Given the description of an element on the screen output the (x, y) to click on. 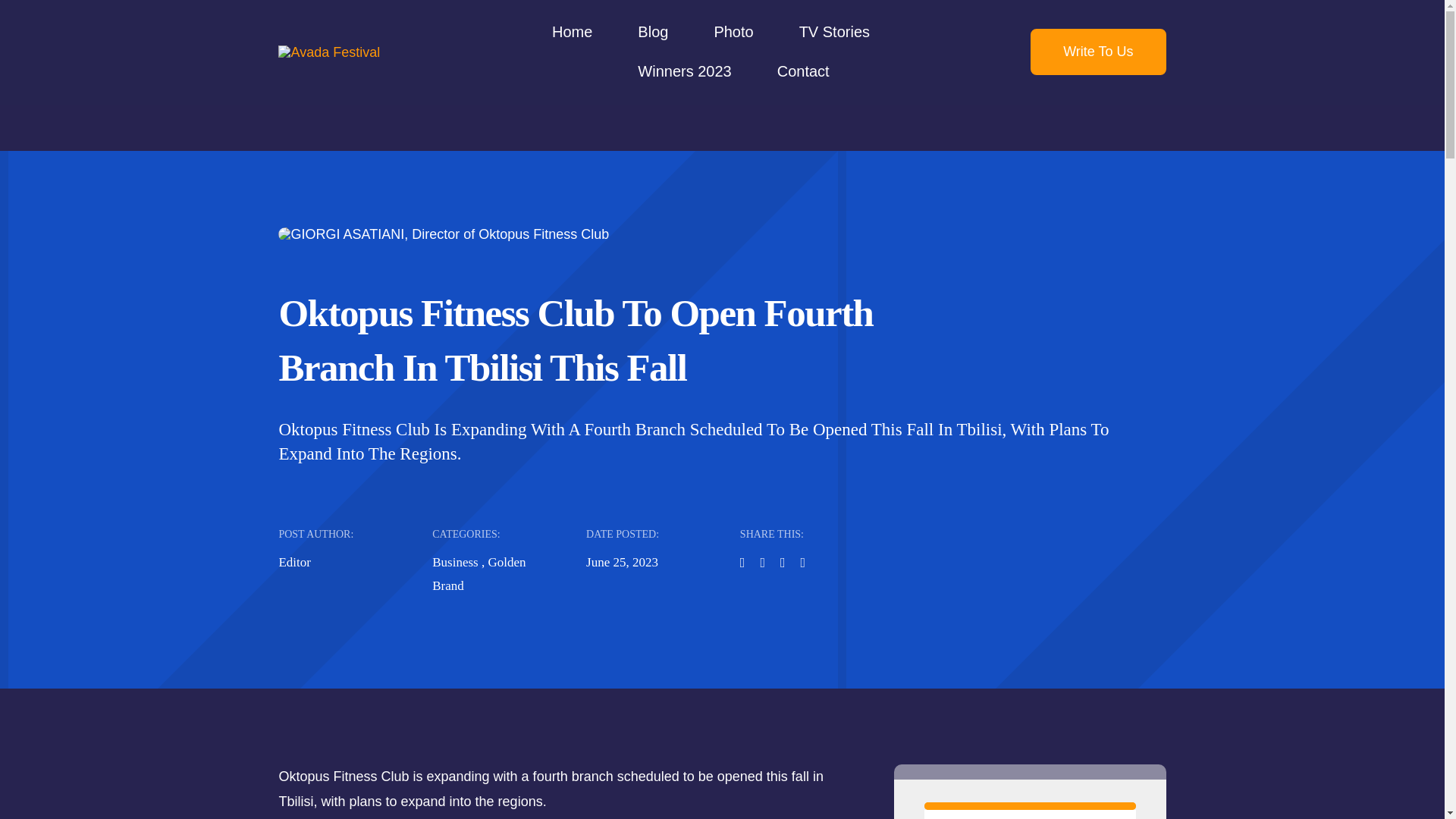
Business (454, 562)
Winners 2023 (683, 70)
Write To Us (1098, 51)
Golden Brand (478, 573)
Golden Brand (478, 573)
Contact (803, 70)
Photo (732, 31)
TV Stories (834, 31)
0 (1029, 805)
Home (571, 31)
GIORGI ASATIANI, Director of Oktopus Fitness Club (443, 233)
Home (571, 31)
Business (454, 562)
